Given the description of an element on the screen output the (x, y) to click on. 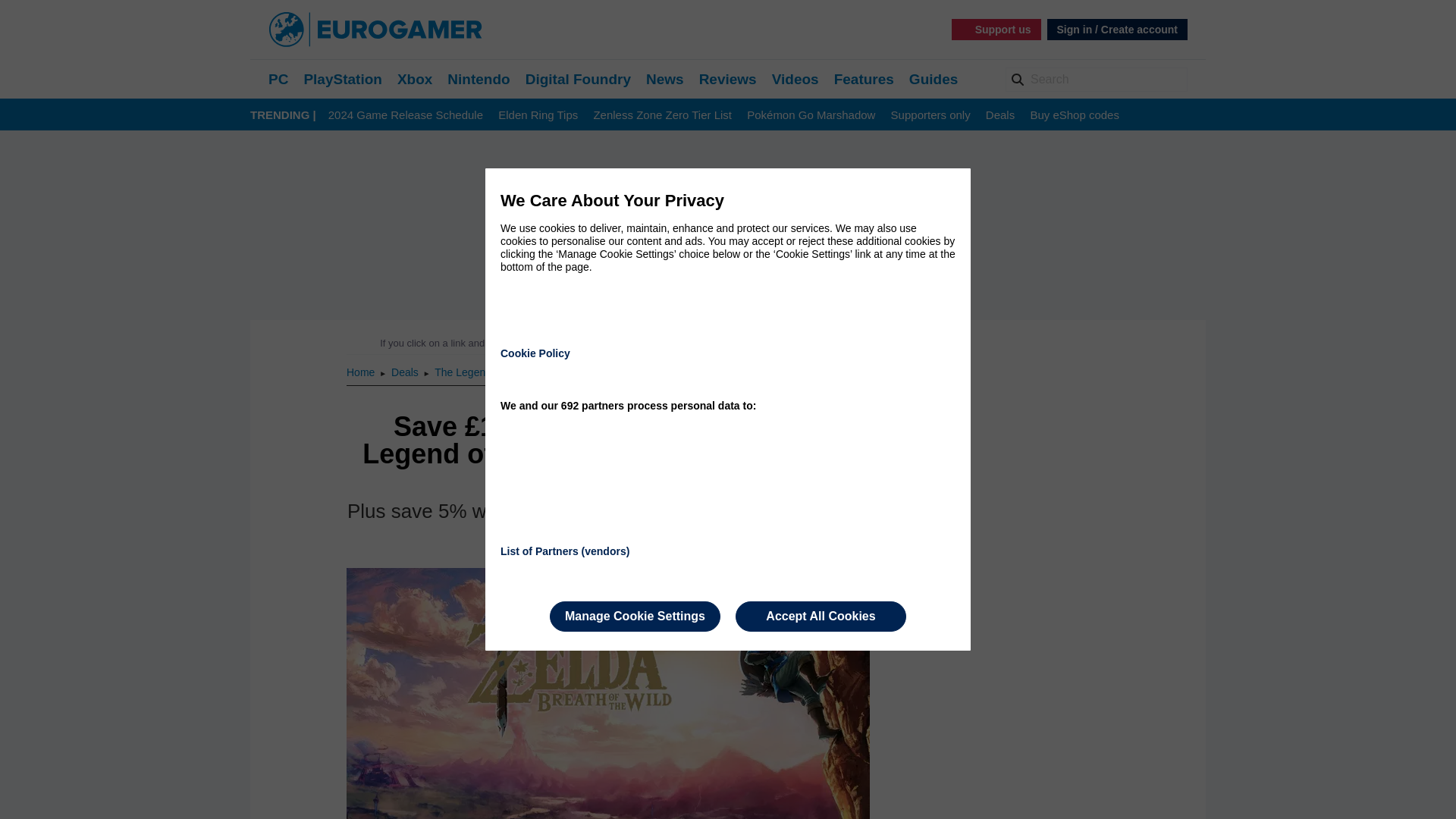
News (665, 78)
The Legend of Zelda: Breath of the Wild (528, 372)
Deals (406, 372)
Features (863, 78)
Digital Foundry (577, 78)
Guides (933, 78)
Guides (933, 78)
Xbox (414, 78)
Nintendo (477, 78)
The Legend of Zelda: Breath of the Wild (528, 372)
PlayStation (341, 78)
Videos (794, 78)
Features (863, 78)
Deals (999, 114)
Zenless Zone Zero Tier List (662, 114)
